Given the description of an element on the screen output the (x, y) to click on. 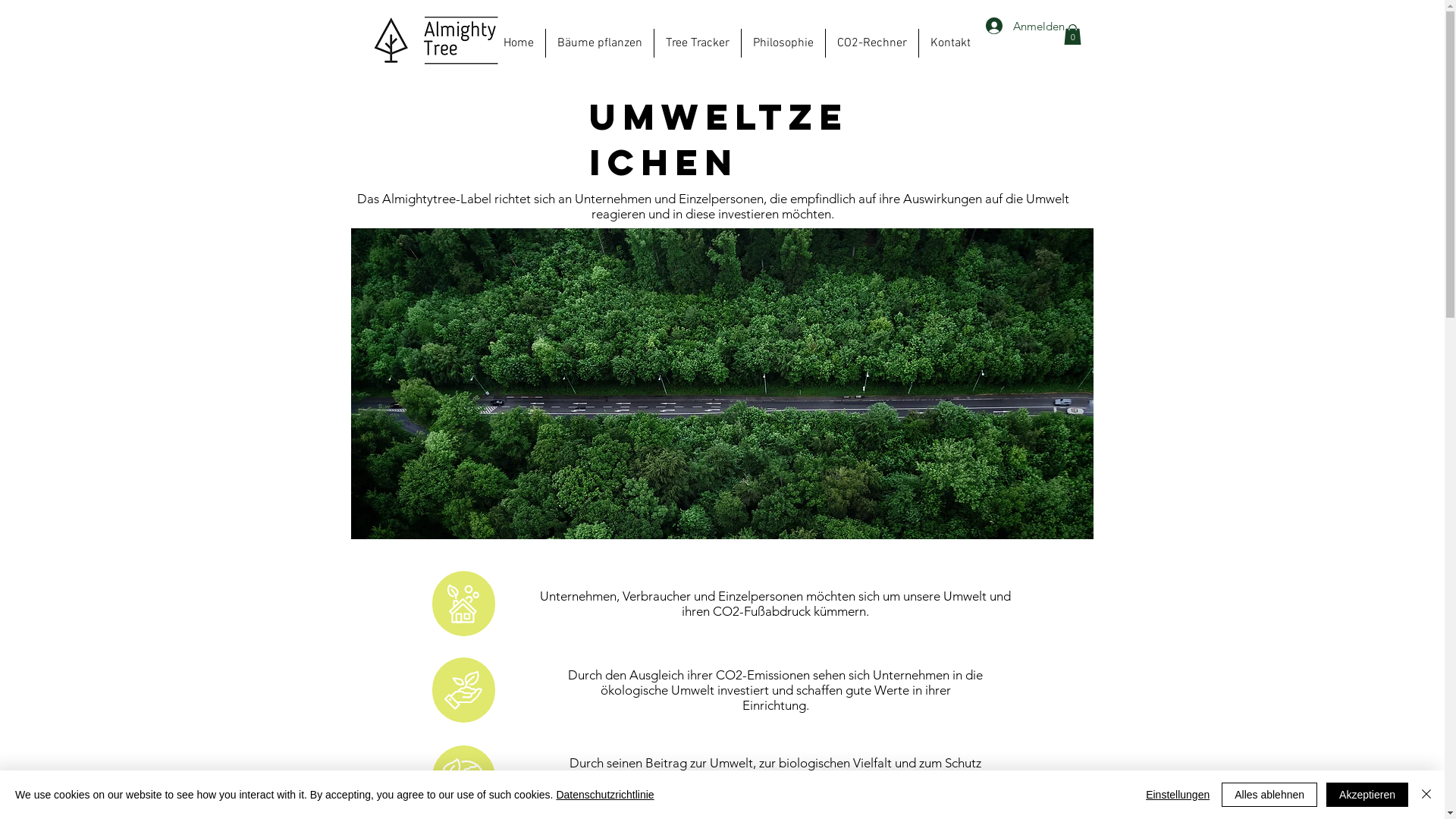
CO2-Rechner Element type: text (871, 42)
Alles ablehnen Element type: text (1269, 794)
Datenschutzrichtlinie Element type: text (604, 794)
Anmelden Element type: text (1017, 25)
Tree Tracker Element type: text (696, 42)
Kontakt Element type: text (950, 42)
Home Element type: text (517, 42)
Akzeptieren Element type: text (1367, 794)
0 Element type: text (1071, 34)
Philosophie Element type: text (783, 42)
